Given the description of an element on the screen output the (x, y) to click on. 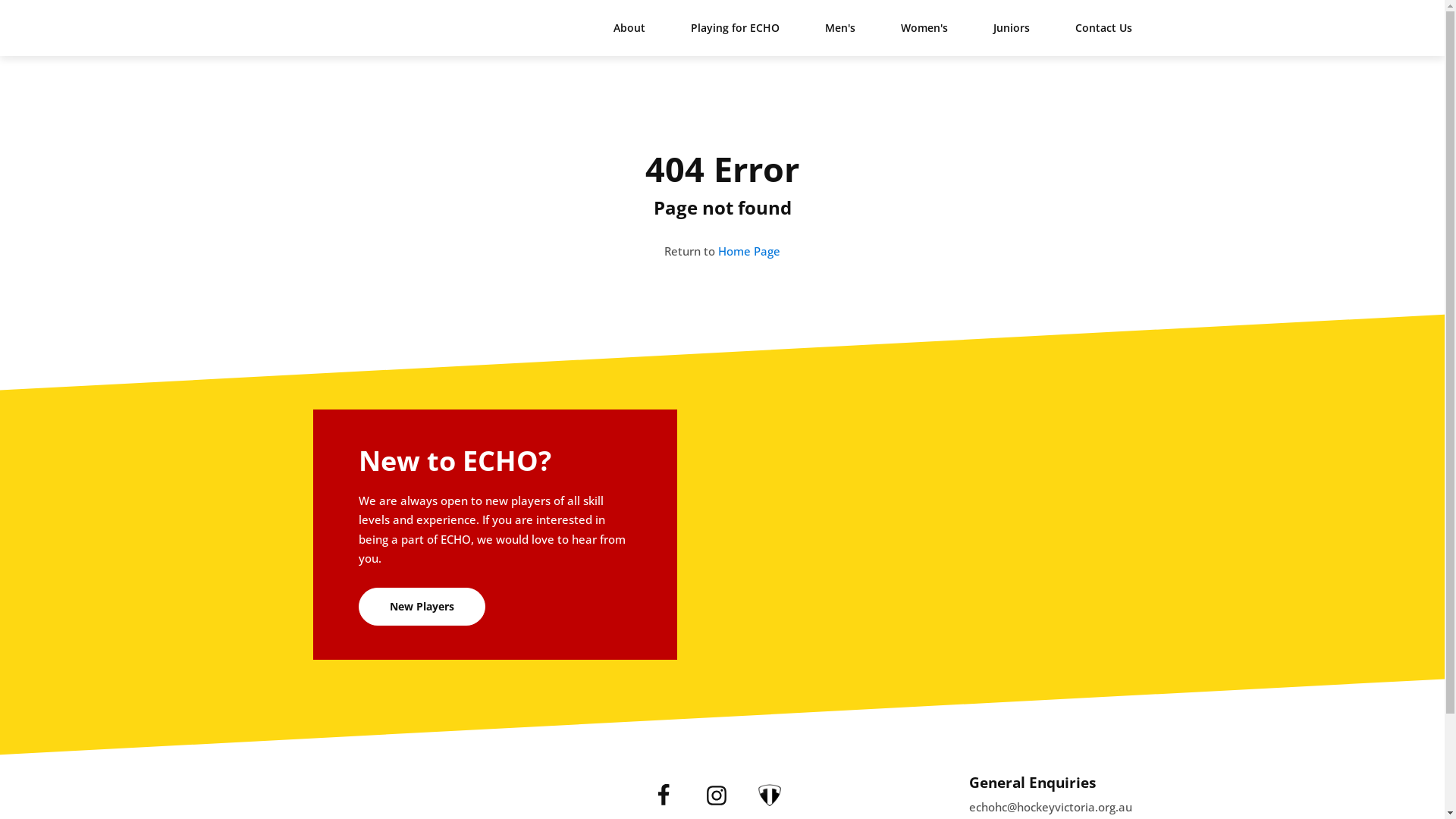
Home Page Element type: text (749, 250)
Playing for ECHO Element type: text (734, 27)
Contact Us Element type: text (1103, 27)
About Element type: text (628, 27)
Juniors Element type: text (1011, 27)
Men's Element type: text (840, 27)
Women's Element type: text (923, 27)
New Players Element type: text (420, 606)
